Given the description of an element on the screen output the (x, y) to click on. 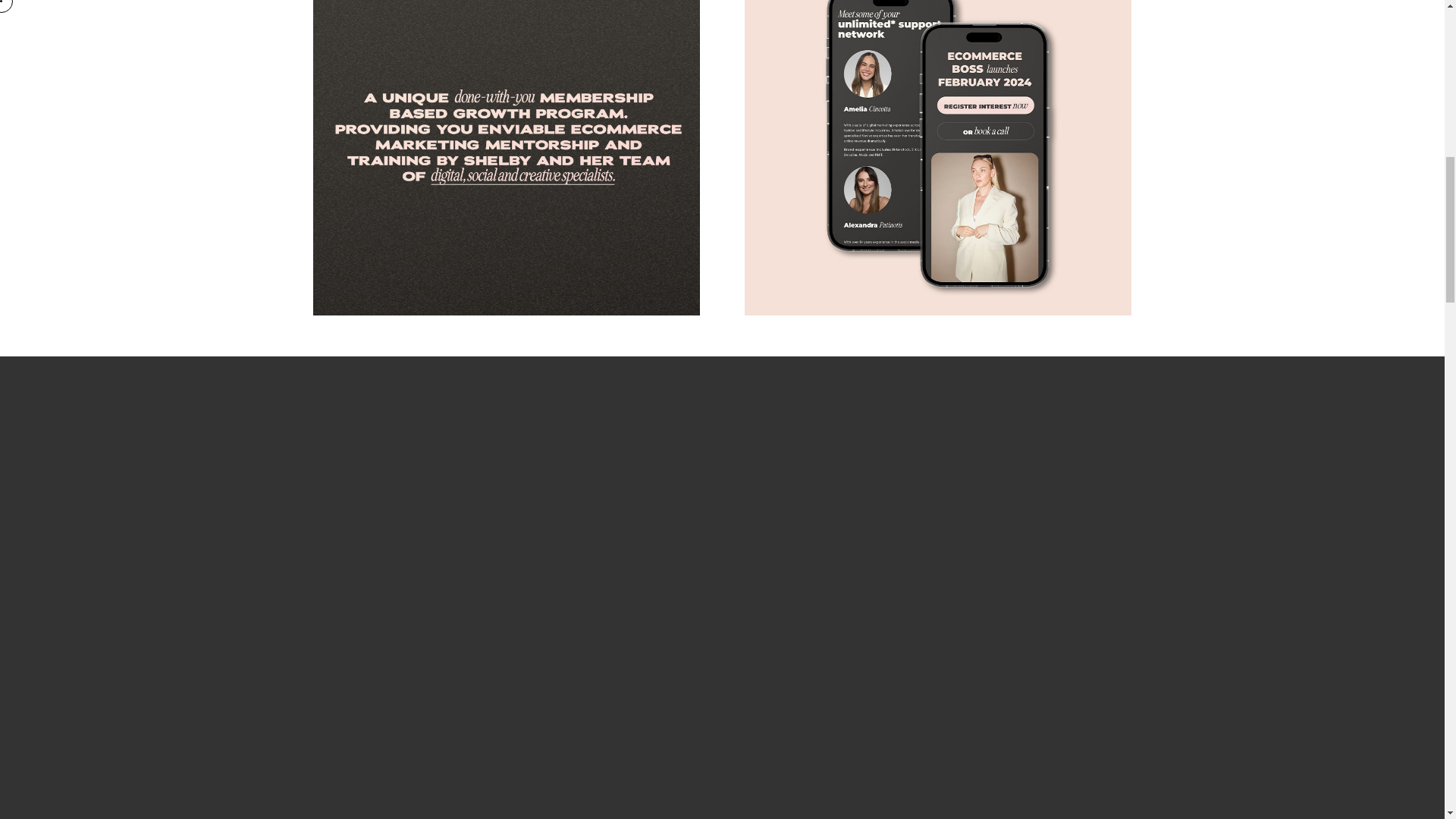
EcommBoss-2 (937, 157)
EcommBoss-3 (505, 157)
